Given the description of an element on the screen output the (x, y) to click on. 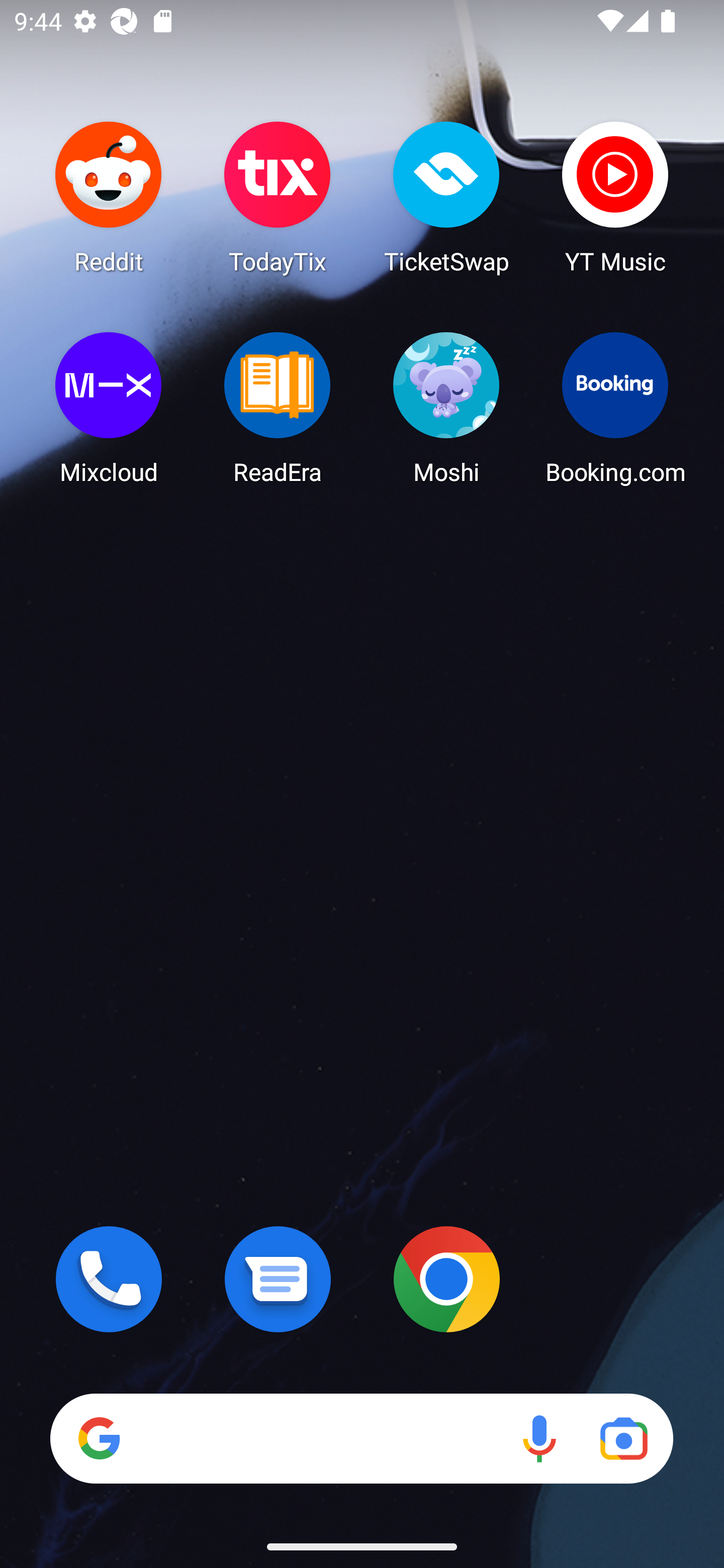
Reddit (108, 196)
TodayTix (277, 196)
TicketSwap (445, 196)
YT Music (615, 196)
Mixcloud (108, 407)
ReadEra (277, 407)
Moshi (445, 407)
Booking.com (615, 407)
Phone (108, 1279)
Messages (277, 1279)
Chrome (446, 1279)
Search Voice search Google Lens (361, 1438)
Voice search (539, 1438)
Google Lens (623, 1438)
